Given the description of an element on the screen output the (x, y) to click on. 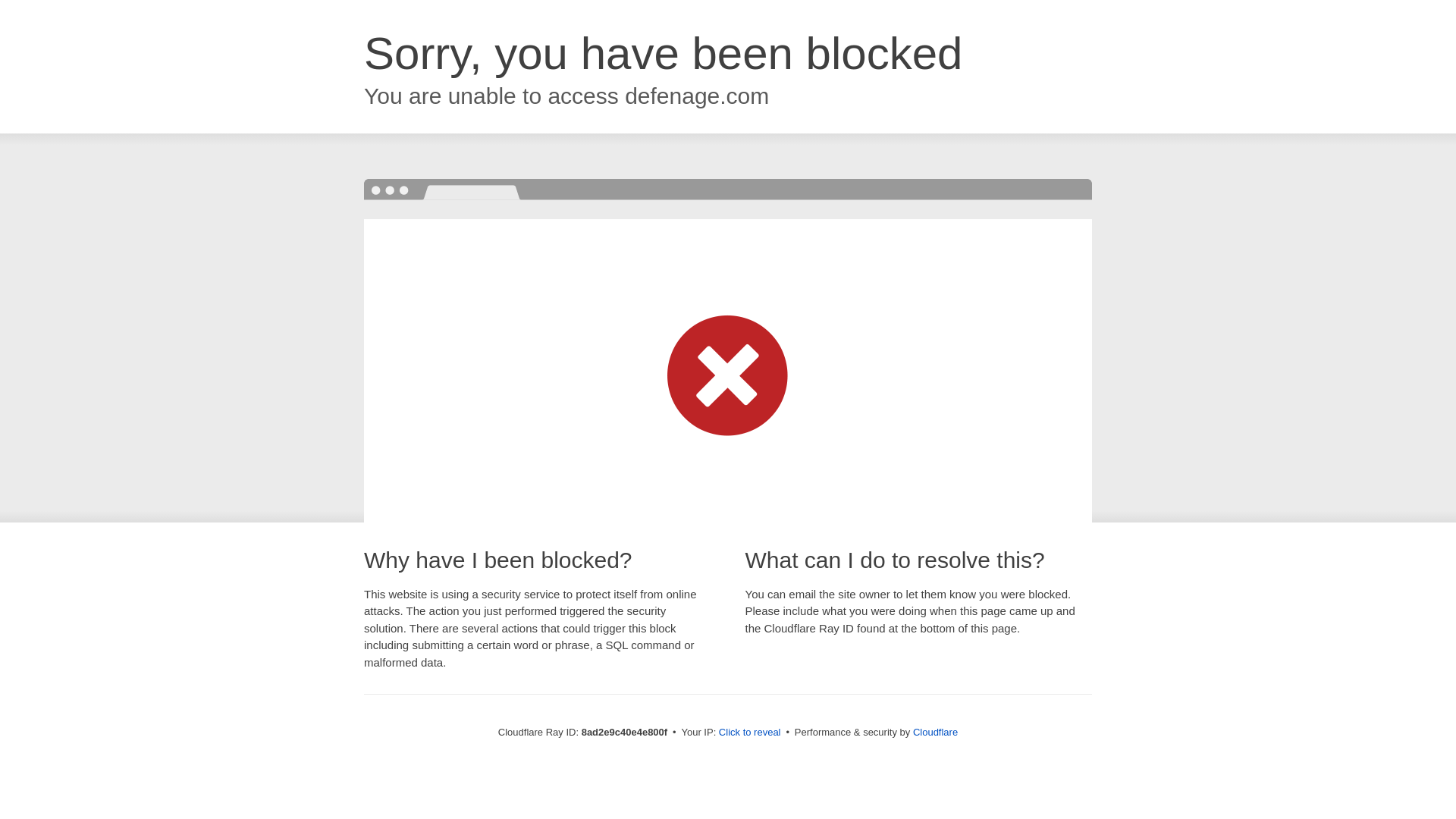
Click to reveal (749, 732)
Cloudflare (935, 731)
